Given the description of an element on the screen output the (x, y) to click on. 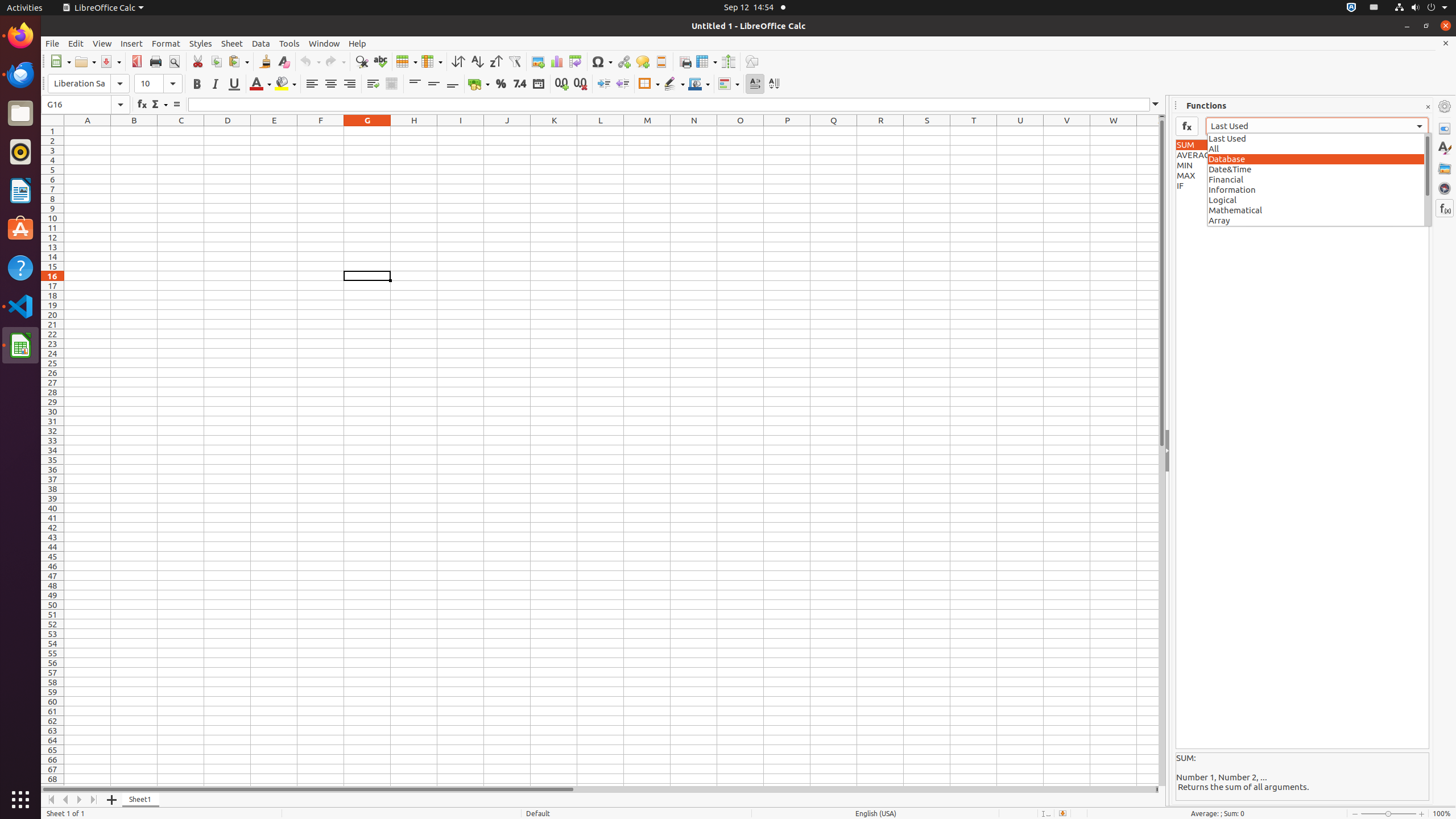
Bold Element type: toggle-button (196, 83)
Files Element type: push-button (20, 113)
Headers and Footers Element type: push-button (660, 61)
Sheet Sheet1 Element type: table (611, 456)
Center Vertically Element type: push-button (433, 83)
